Given the description of an element on the screen output the (x, y) to click on. 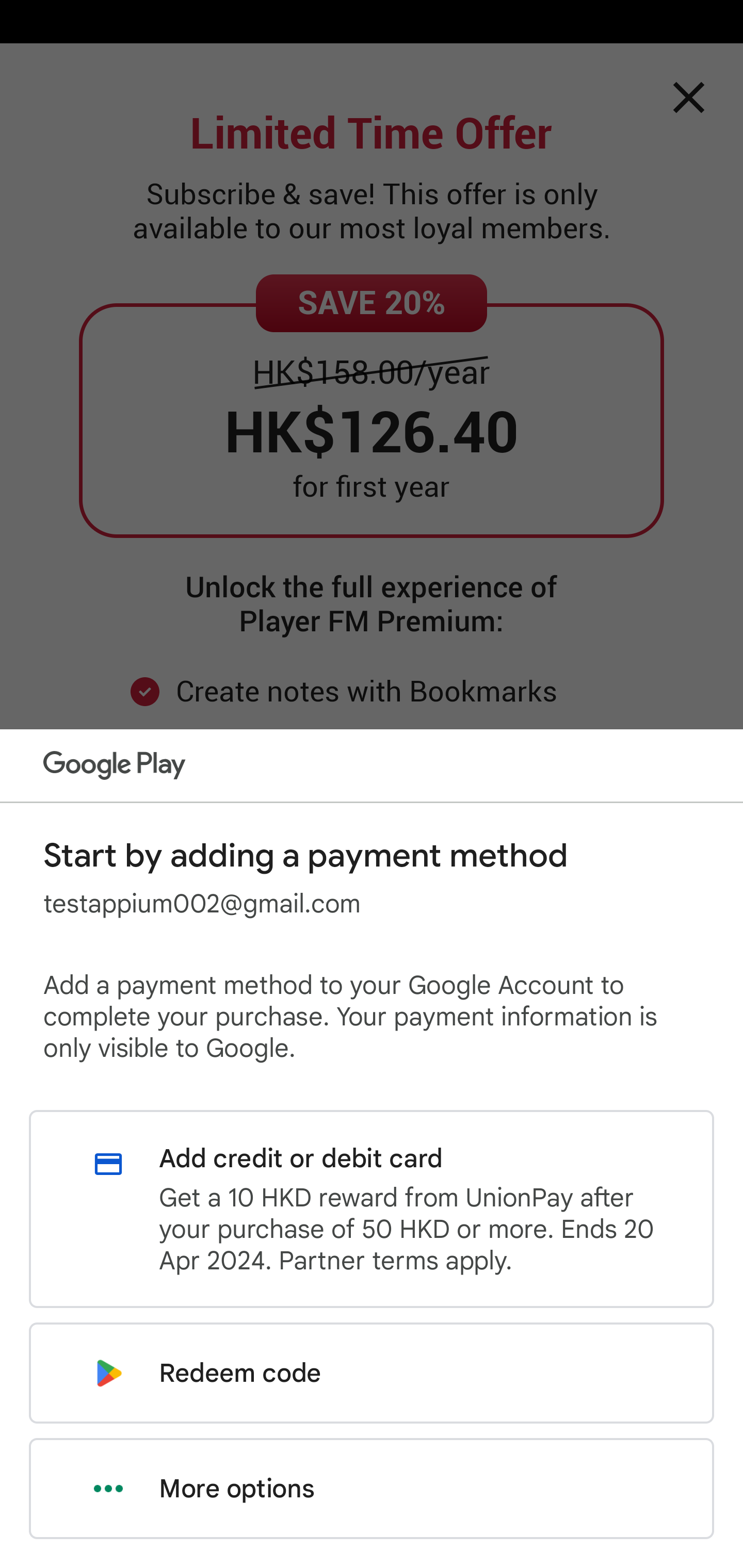
Redeem code (371, 1372)
More options (371, 1488)
